Given the description of an element on the screen output the (x, y) to click on. 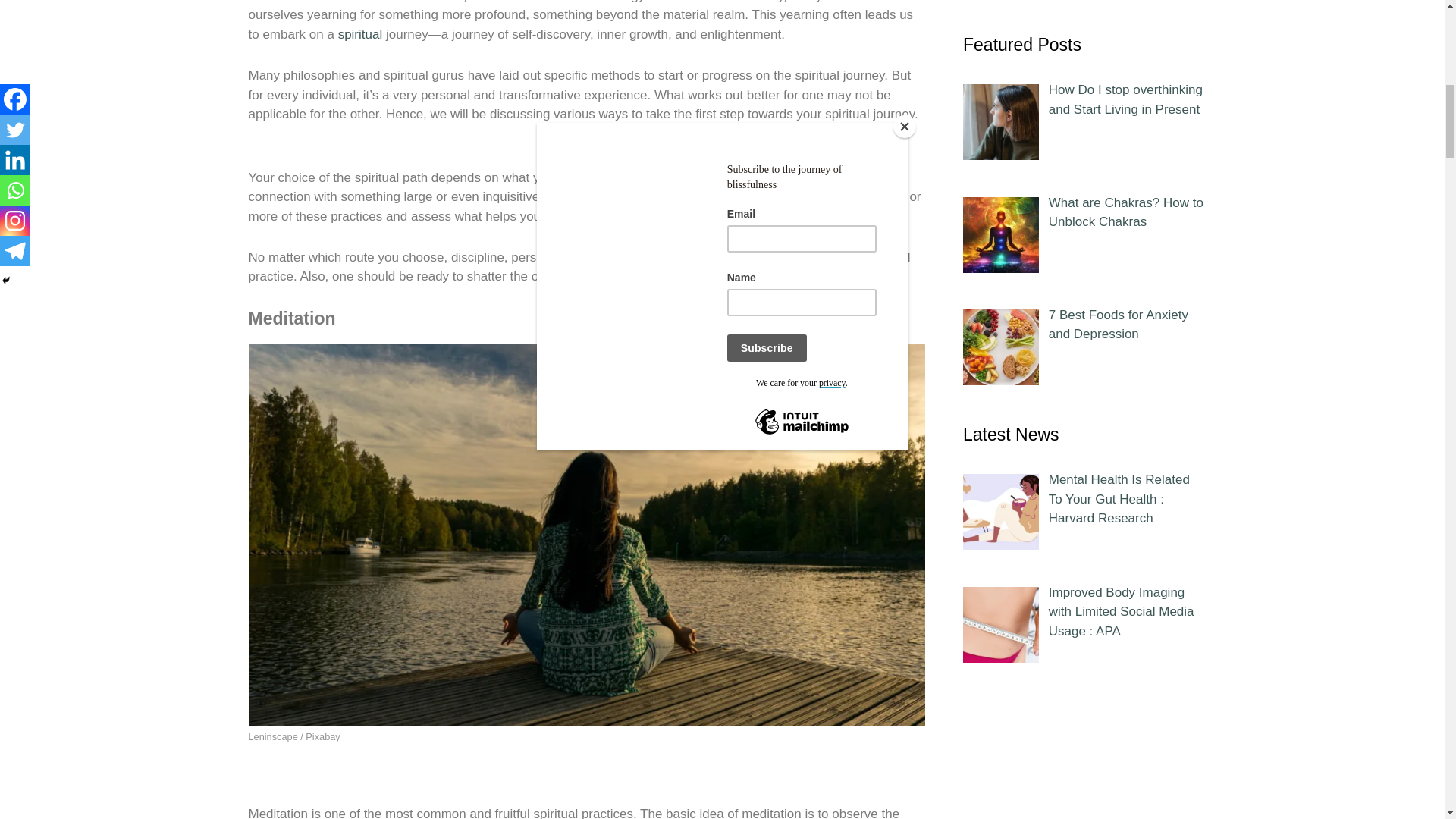
spiritual (359, 34)
